Given the description of an element on the screen output the (x, y) to click on. 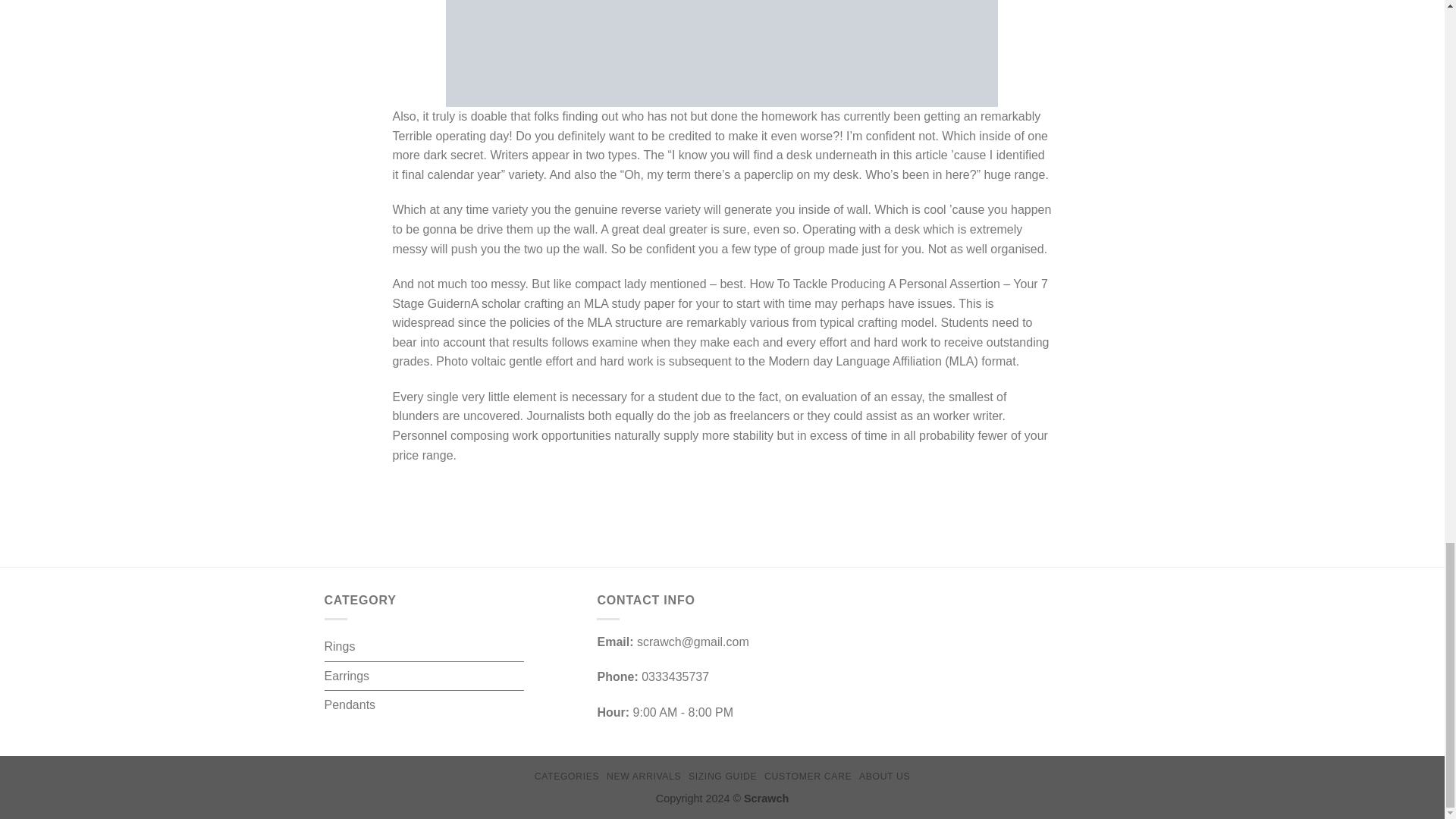
Pendants (349, 705)
NEW ARRIVALS (644, 776)
SIZING GUIDE (722, 776)
ABOUT US (884, 776)
CATEGORIES (566, 776)
CUSTOMER CARE (807, 776)
Earrings (346, 676)
Rings (339, 646)
